Given the description of an element on the screen output the (x, y) to click on. 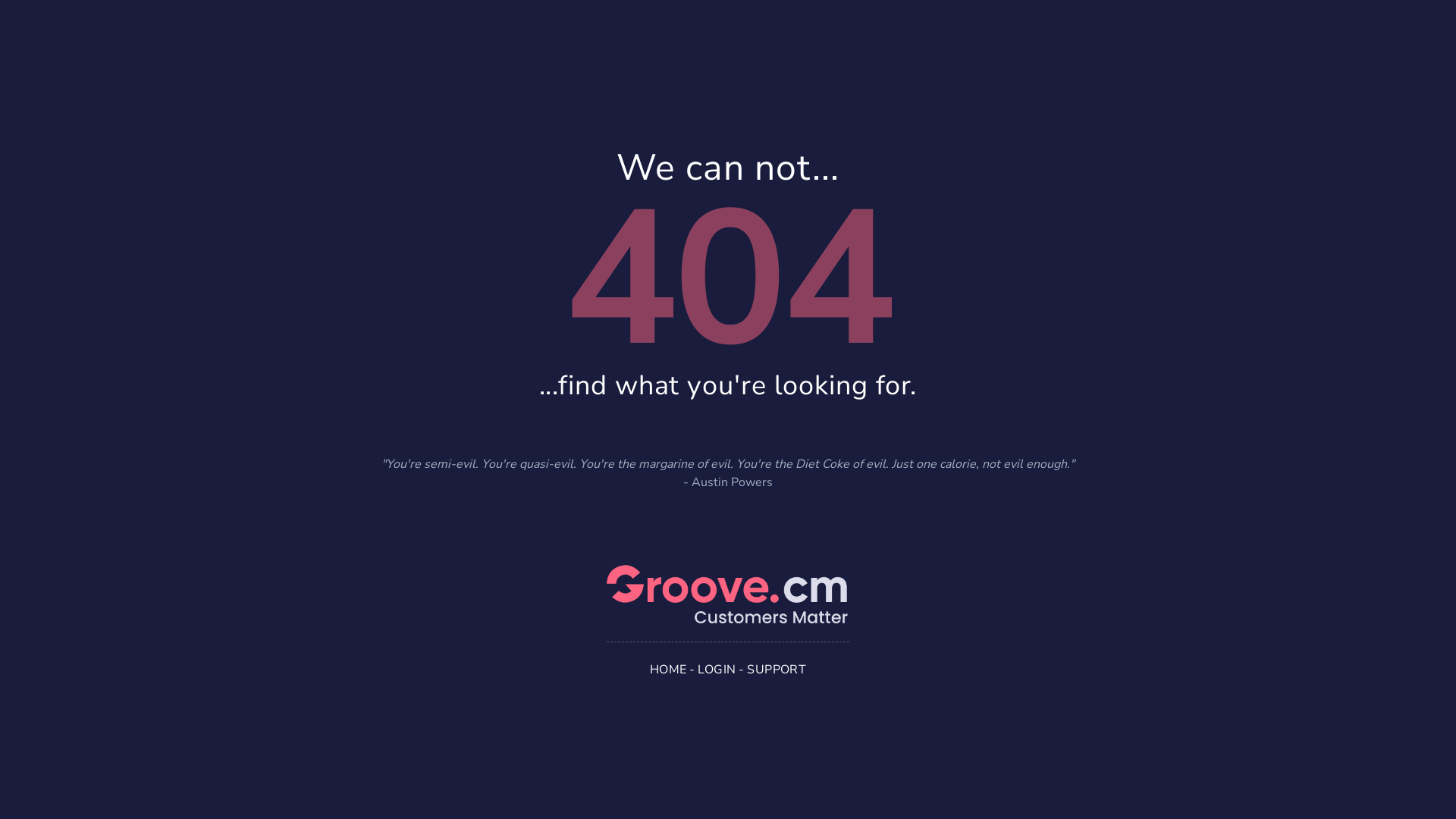
SUPPORT Element type: text (776, 669)
LOGIN Element type: text (716, 669)
HOME Element type: text (668, 669)
